Given the description of an element on the screen output the (x, y) to click on. 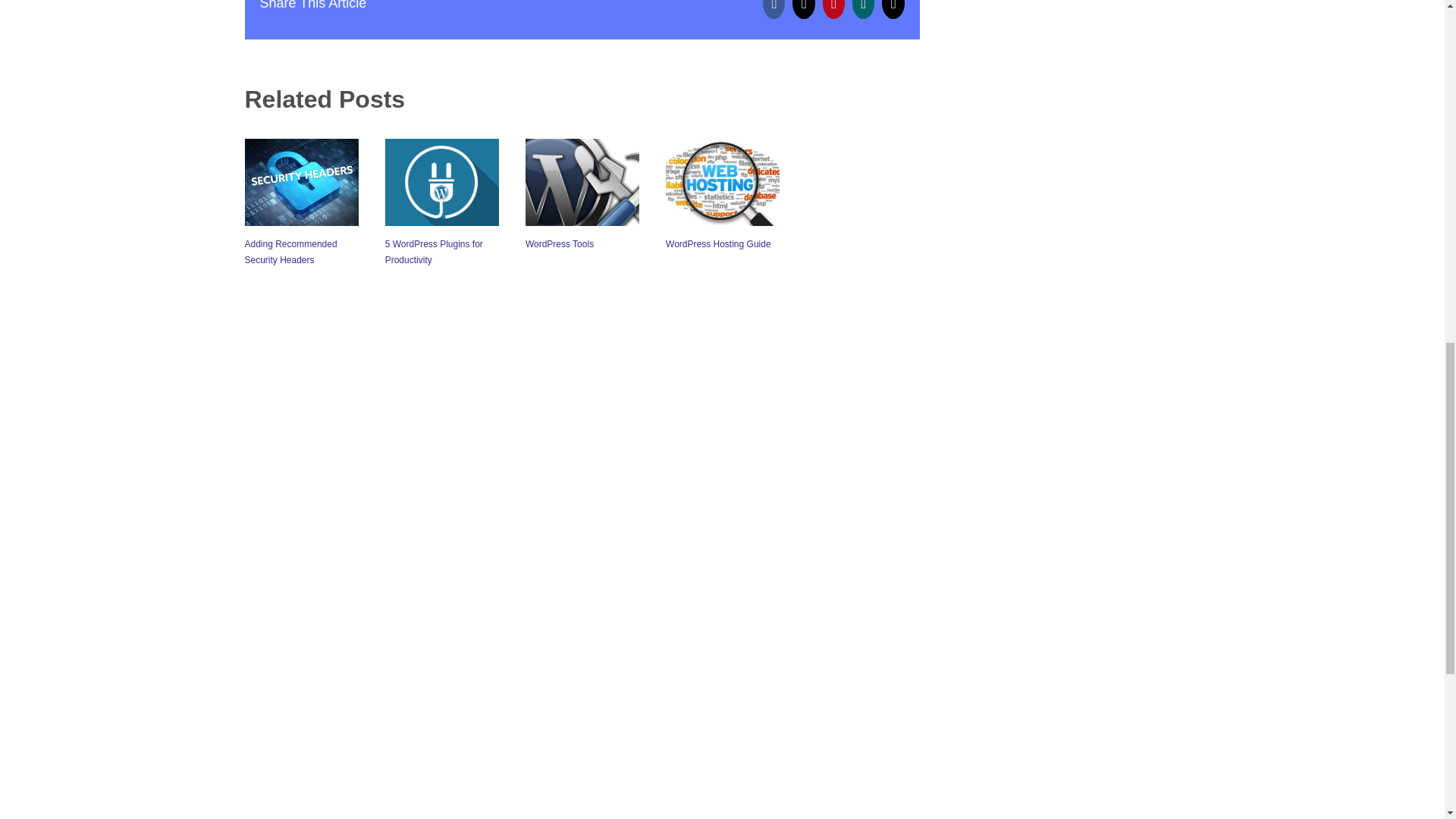
Pinterest (833, 9)
X (802, 9)
Adding Recommended Security Headers (290, 252)
Xing (863, 9)
5 WordPress Plugins for Productivity (434, 252)
WordPress Tools (559, 244)
Email (893, 9)
WordPress Hosting Guide (718, 244)
Facebook (773, 9)
Pinterest (833, 9)
